Given the description of an element on the screen output the (x, y) to click on. 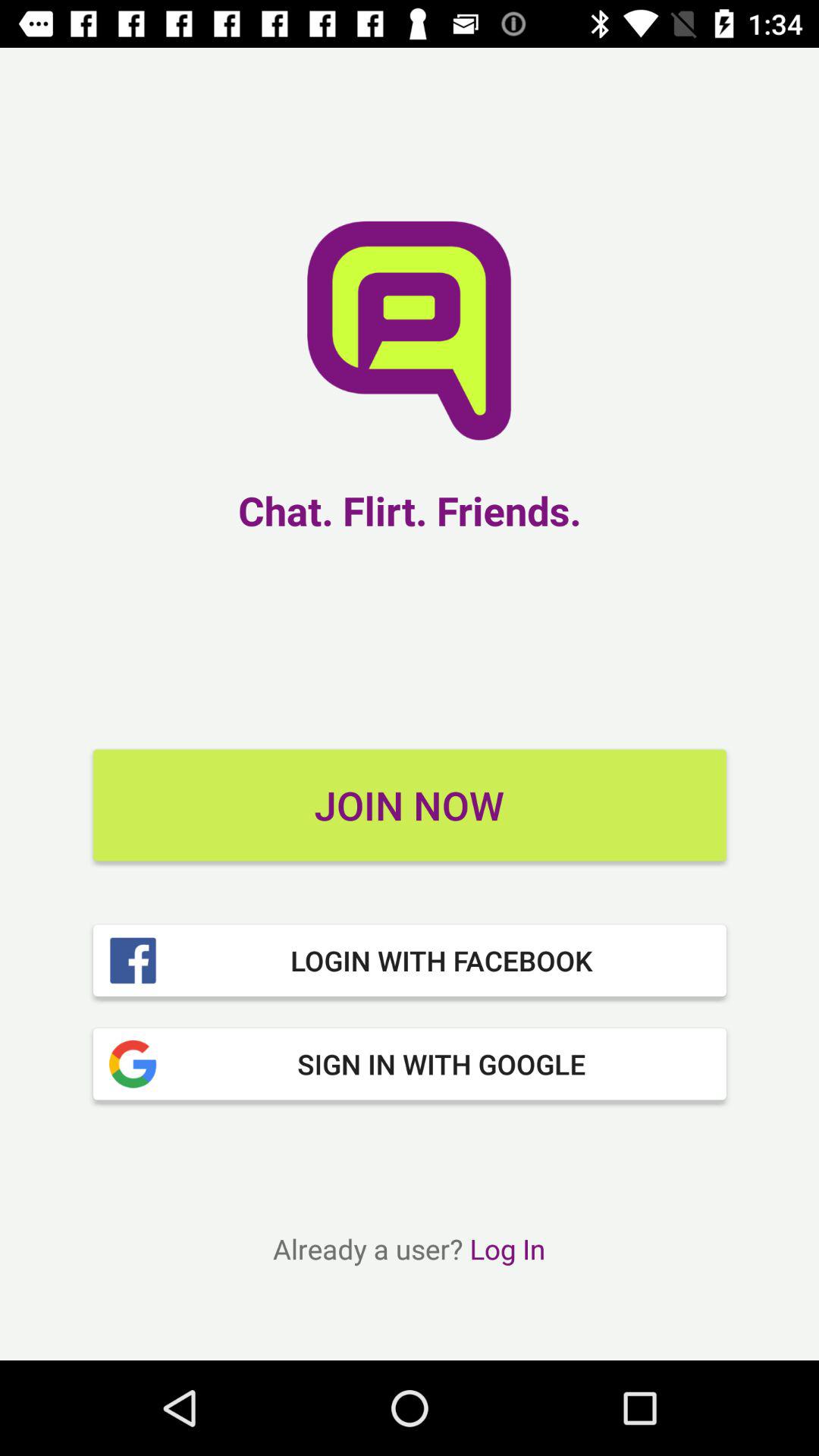
tap the sign in with (409, 1063)
